Given the description of an element on the screen output the (x, y) to click on. 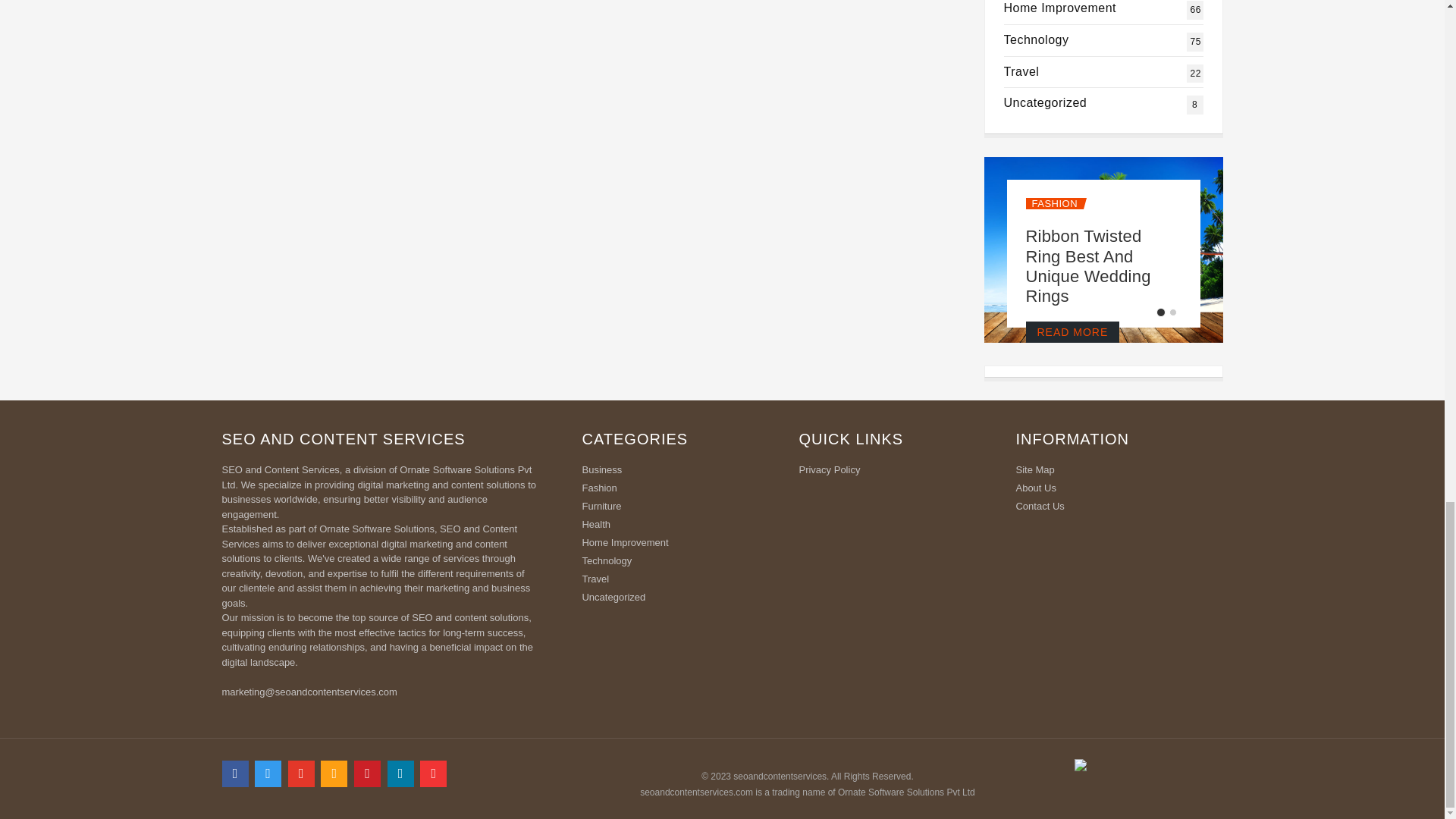
Travel (1060, 7)
Uncategorized (1021, 71)
Technology (1021, 71)
Home Improvement (1045, 102)
Fashion (1036, 39)
Ribbon Twisted Ring Best And Unique Wedding Rings (1036, 39)
